Given the description of an element on the screen output the (x, y) to click on. 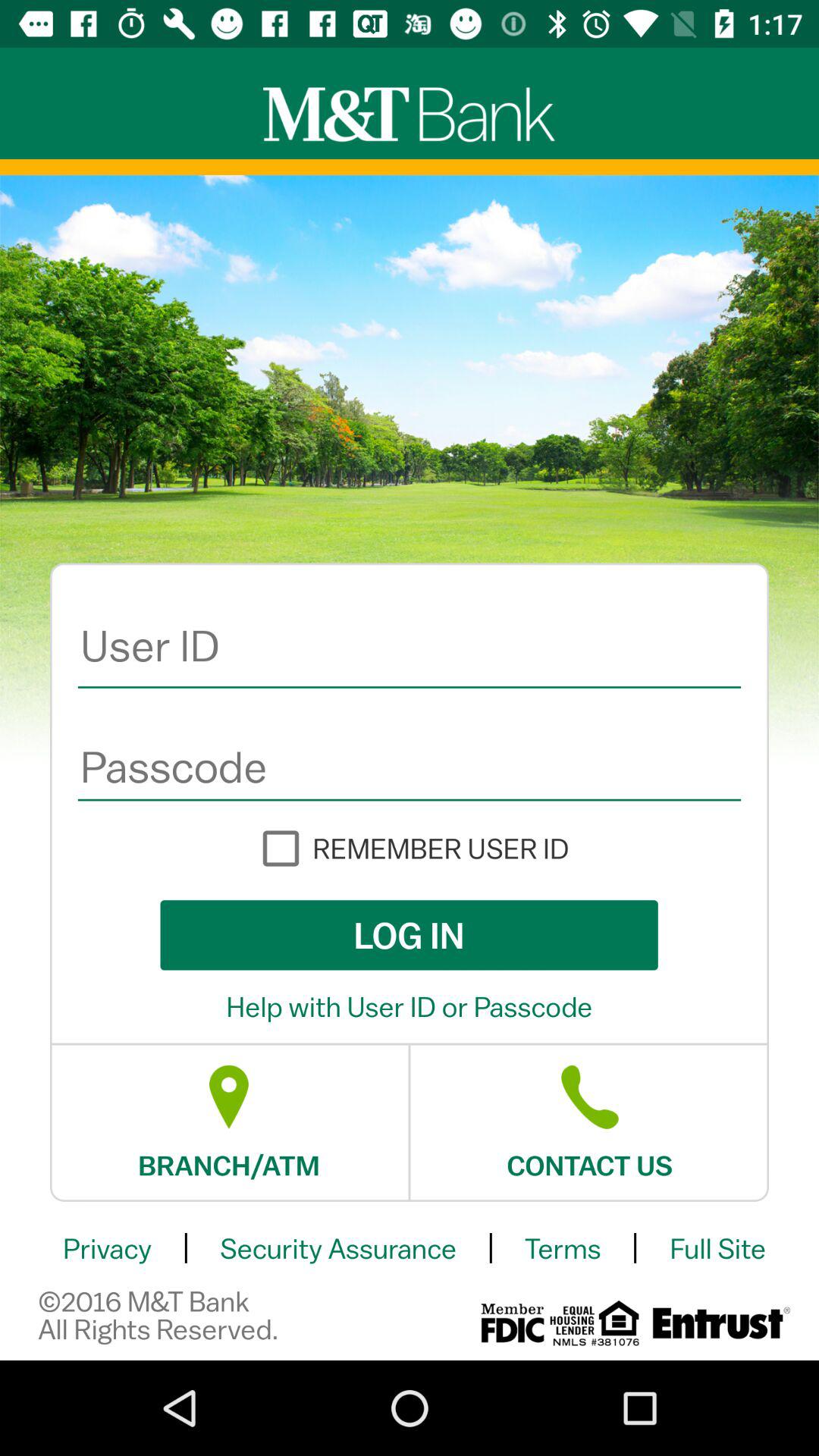
launch item below remember user id item (409, 935)
